Given the description of an element on the screen output the (x, y) to click on. 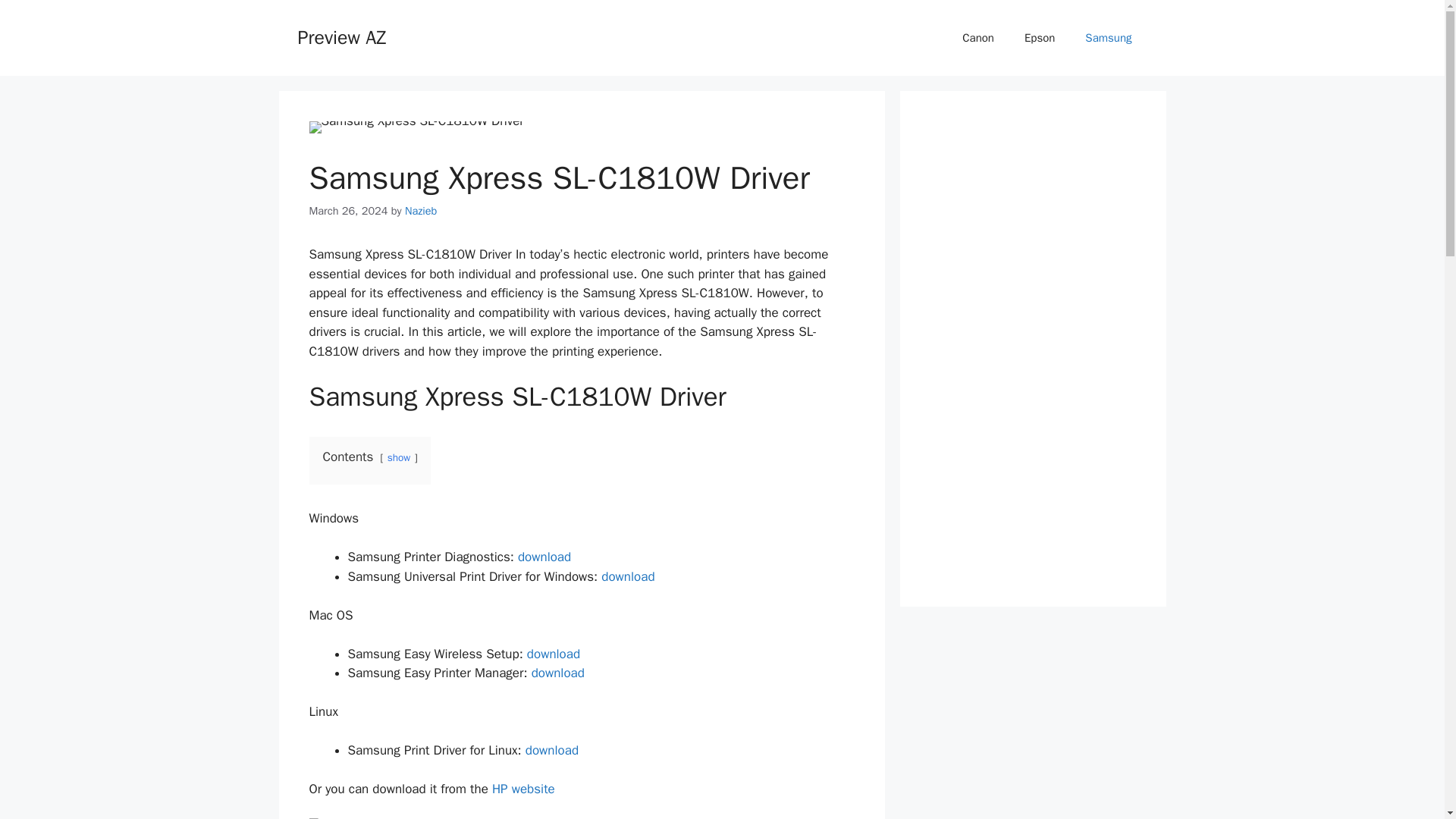
Canon (978, 37)
View all posts by Nazieb (420, 210)
download (553, 653)
Samsung (1108, 37)
download (544, 556)
Samsung Xpress SL-C1810W Driver (416, 127)
Samsung Universal Print Driver for Windows (627, 576)
download (627, 576)
HP website (523, 788)
Samsung Printer Diagnostics (544, 556)
Samsung Easy Printer Manager (558, 672)
Preview AZ (341, 37)
Epson (1039, 37)
show (398, 457)
HP website (523, 788)
